Given the description of an element on the screen output the (x, y) to click on. 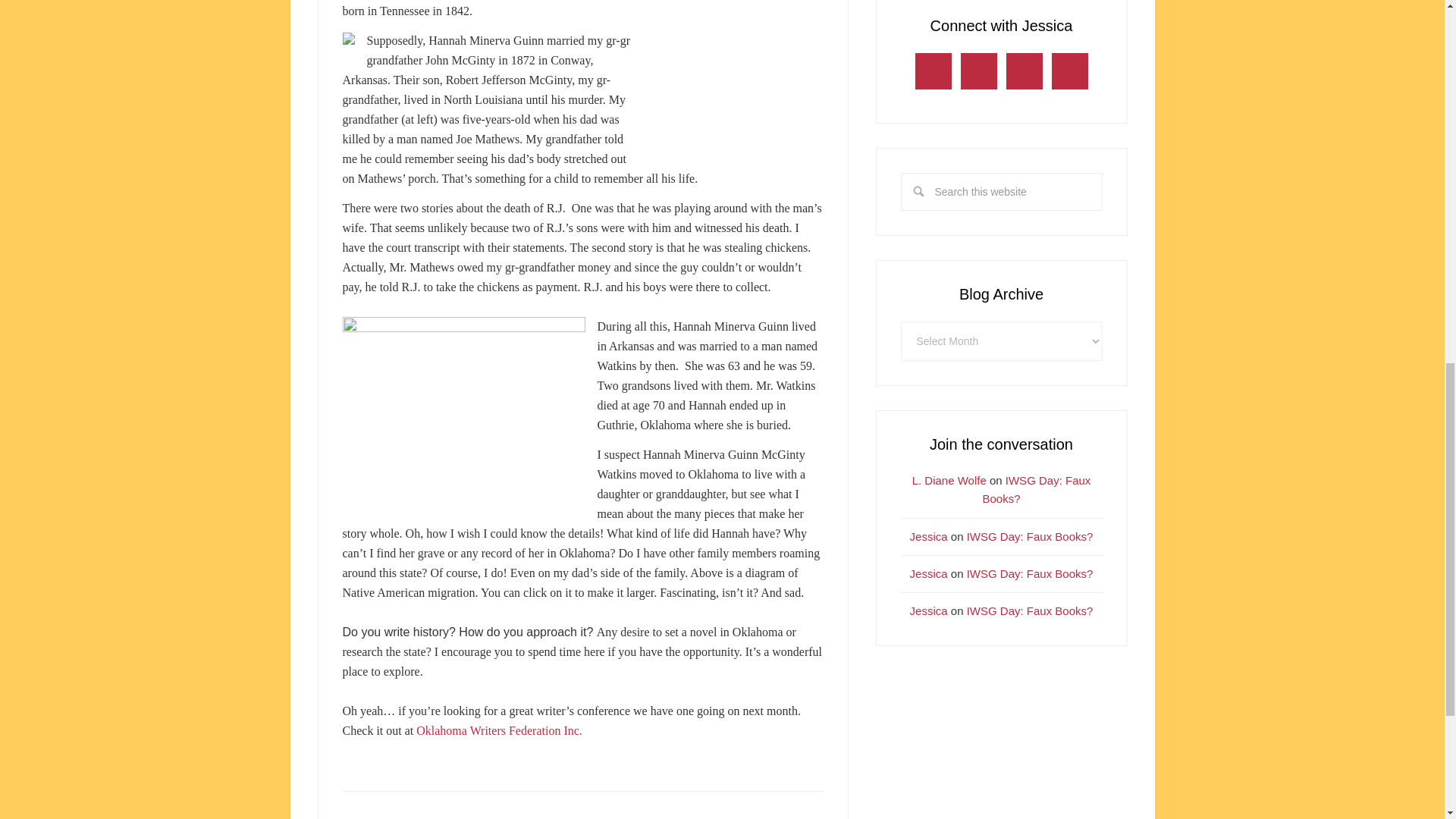
IWSG Day: Faux Books? (1029, 573)
IWSG Day: Faux Books? (1035, 489)
Jessica (928, 535)
Oklahoma Writers Federation Inc. (499, 730)
Uncategorized (423, 818)
L. Diane Wolfe (949, 480)
IWSG Day: Faux Books? (1029, 535)
